Given the description of an element on the screen output the (x, y) to click on. 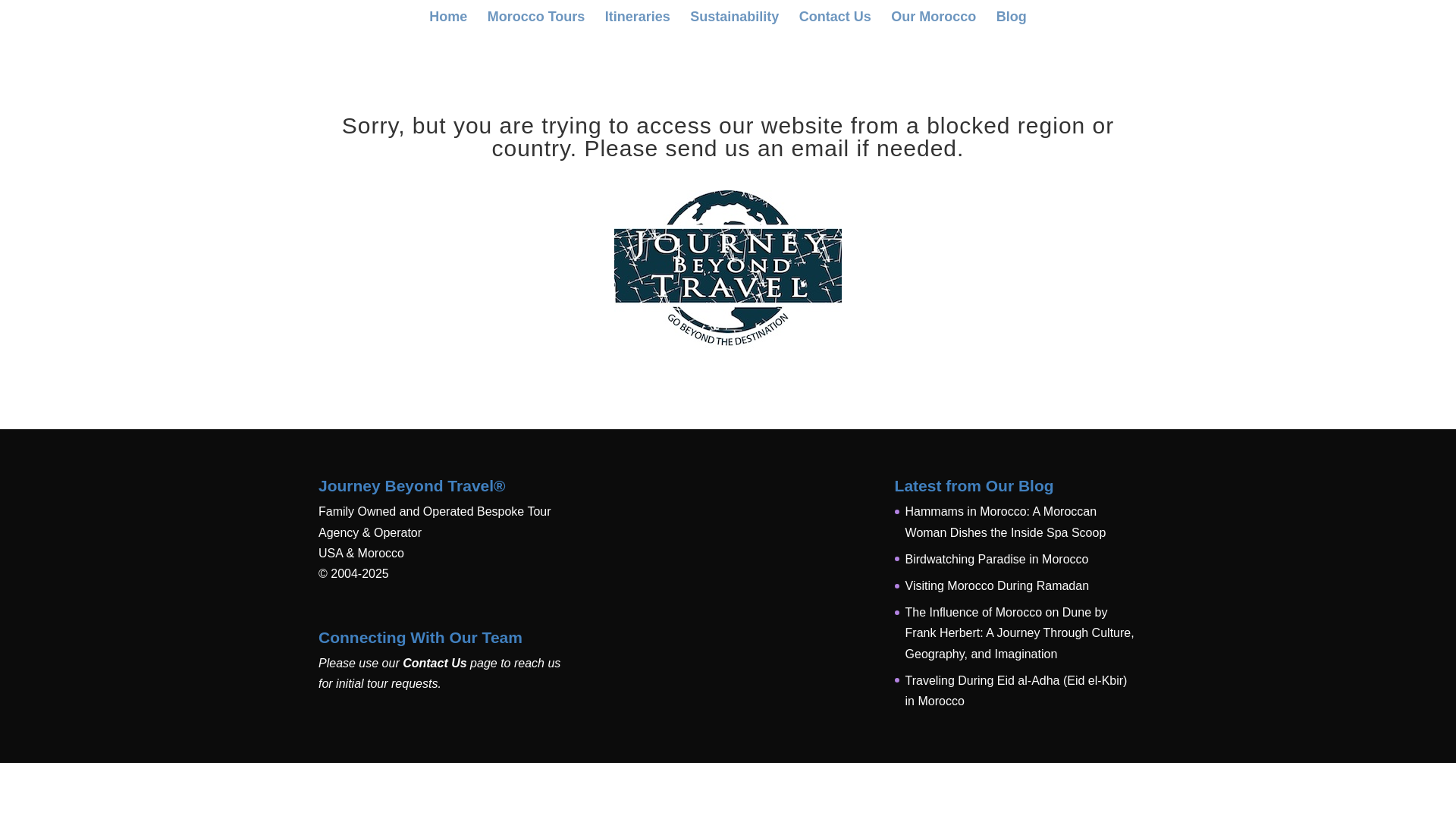
Morocco Tours (536, 22)
Birdwatching Paradise in Morocco (997, 558)
Sustainability (734, 22)
Itineraries (637, 22)
Our Morocco (933, 22)
Home (448, 22)
Blog (1010, 22)
Contact Us (434, 662)
Contact Us (834, 22)
Visiting Morocco During Ramadan (997, 585)
